Given the description of an element on the screen output the (x, y) to click on. 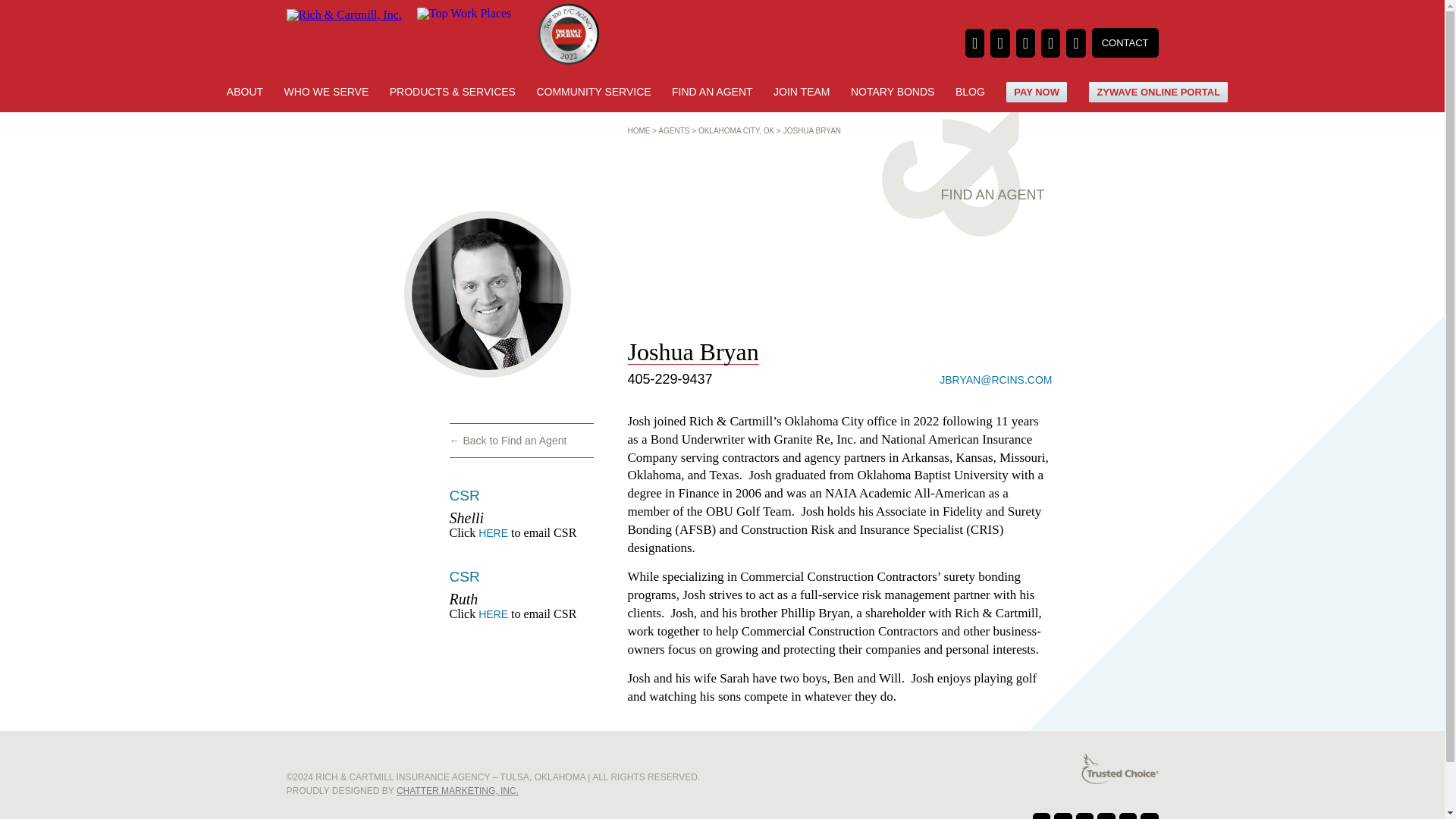
Go to the Oklahoma City, OK City archives. (736, 130)
Go to Agents. (673, 130)
